Given the description of an element on the screen output the (x, y) to click on. 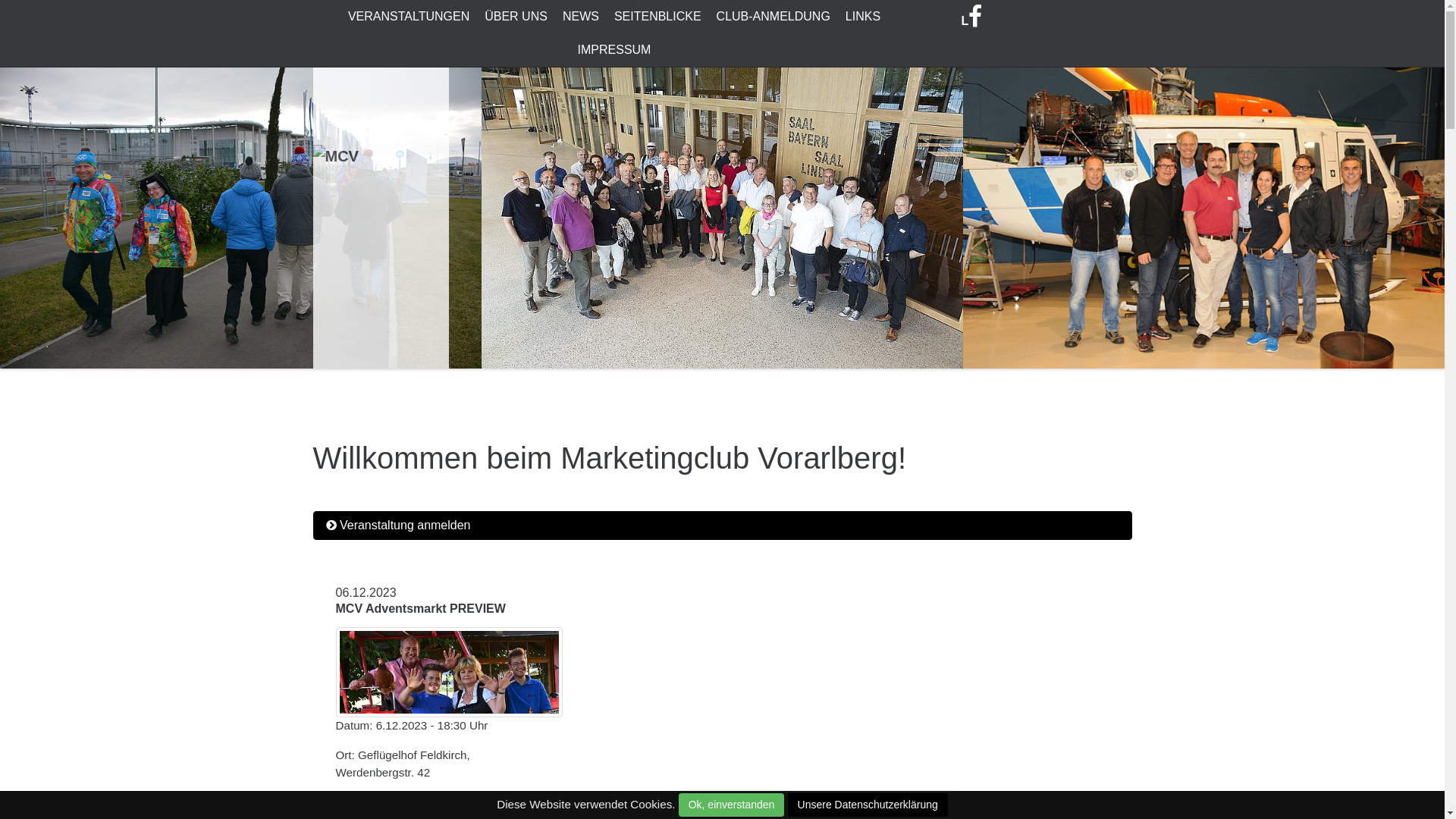
NEWS Element type: text (580, 15)
VERANSTALTUNGEN Element type: text (408, 15)
CLUB-ANMELDUNG Element type: text (773, 15)
Weiterlesen Element type: text (374, 803)
LINKS Element type: text (862, 15)
MCV Element type: hover (380, 202)
MCV Adventsmarkt PREVIEW Element type: text (420, 608)
Veranstaltung anmelden Element type: text (721, 525)
SEITENBLICKE Element type: text (657, 15)
Ok, einverstanden Element type: text (731, 804)
IMPRESSUM Element type: text (614, 49)
